Given the description of an element on the screen output the (x, y) to click on. 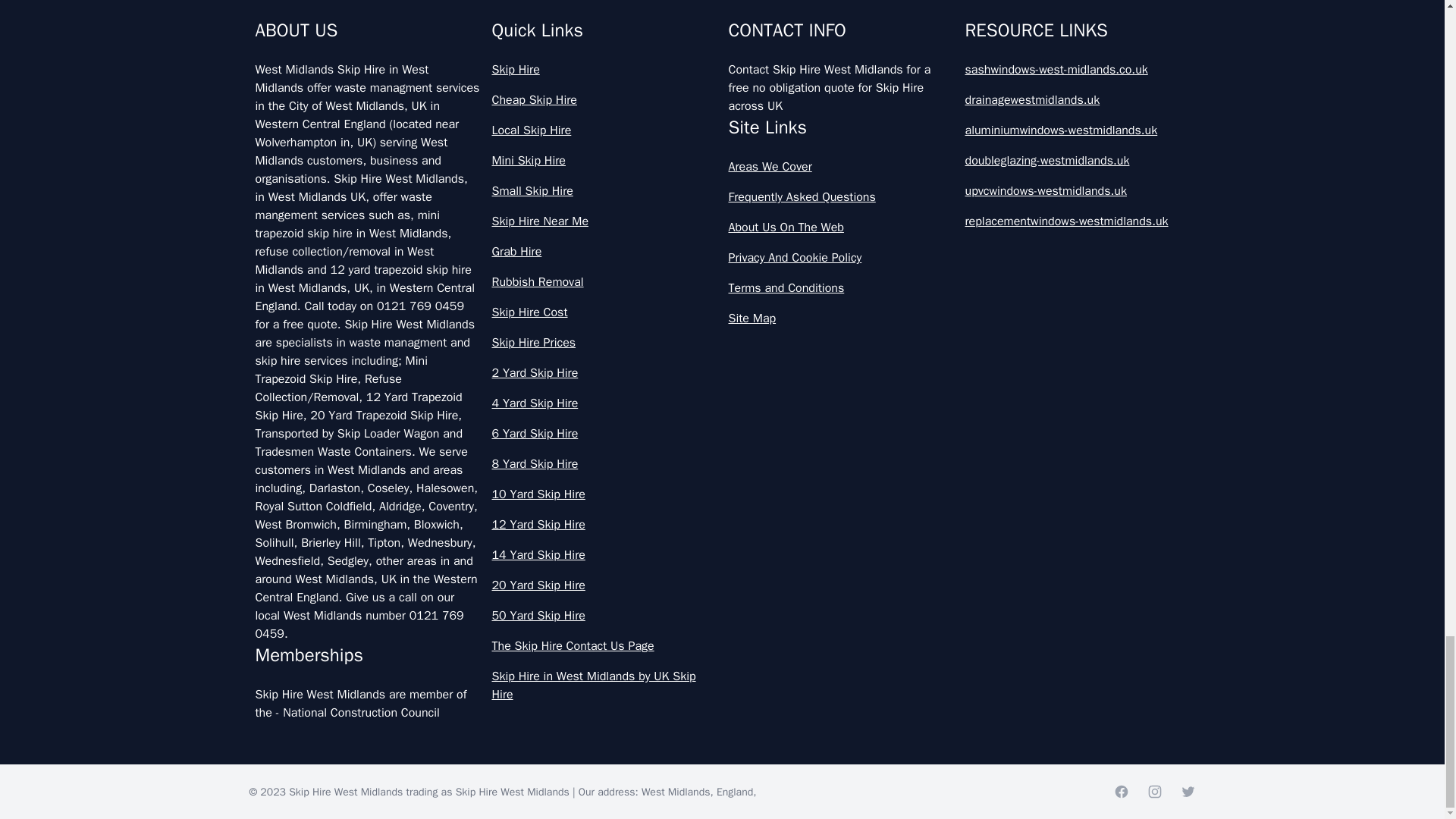
Skip Hire in West Midlands by UK Skip Hire (604, 685)
sashwindows-west-midlands.co.uk (1076, 69)
How Much Is Grab Lorry Hire In West Midlands (722, 55)
How Much To Hire A Grab Lorry In West Midlands (722, 122)
aluminiumwindows-westmidlands.uk (1076, 130)
Is Grab Hire Cheaper Than A Skip In West Midlands (722, 189)
Site Map (840, 318)
replacementwindows-westmidlands.uk (1076, 221)
drainagewestmidlands.uk (1076, 99)
How Much Is Grab Hire In West Midlands (722, 6)
